Given the description of an element on the screen output the (x, y) to click on. 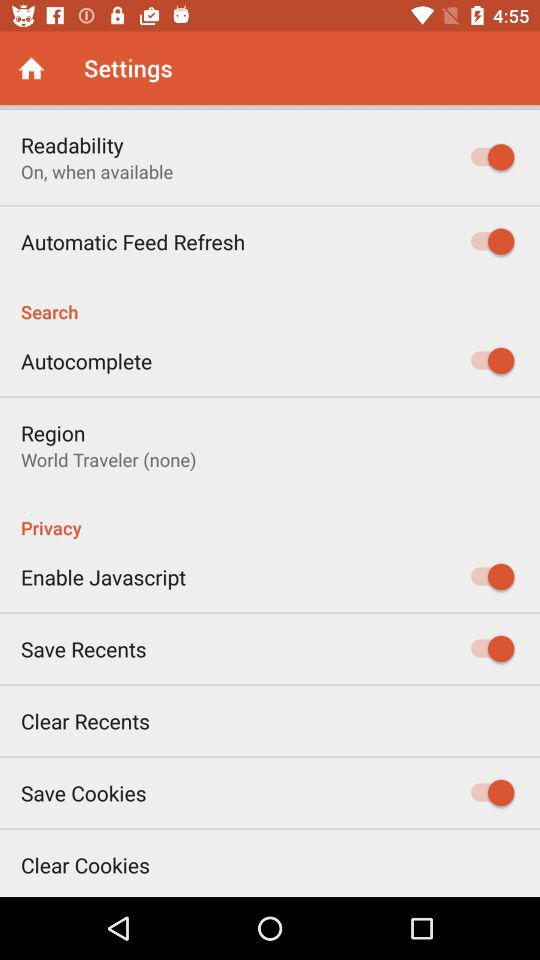
open icon above world traveler (none) (53, 432)
